Given the description of an element on the screen output the (x, y) to click on. 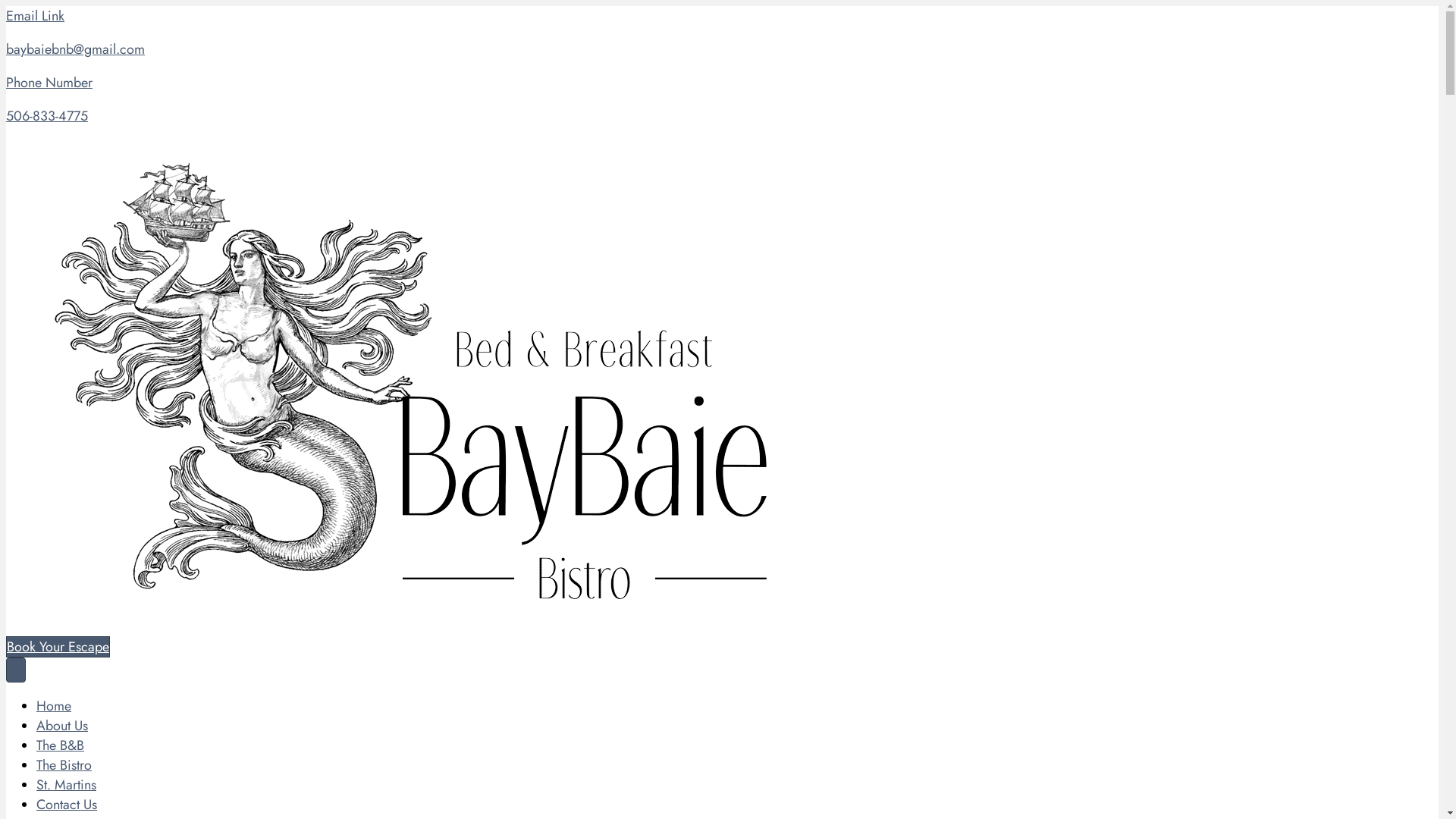
BayBaie-Logo-With-Mermaid Element type: hover (461, 385)
Book Your Escape Element type: text (57, 646)
The Bistro Element type: text (63, 765)
Contact Us Element type: text (66, 804)
506-833-4775 Element type: text (46, 115)
The B&B Element type: text (60, 745)
Home Element type: text (53, 705)
Phone Number Element type: text (49, 82)
Email Link Element type: text (35, 15)
About Us Element type: text (61, 725)
St. Martins Element type: text (66, 784)
baybaiebnb@gmail.com Element type: text (75, 49)
